Given the description of an element on the screen output the (x, y) to click on. 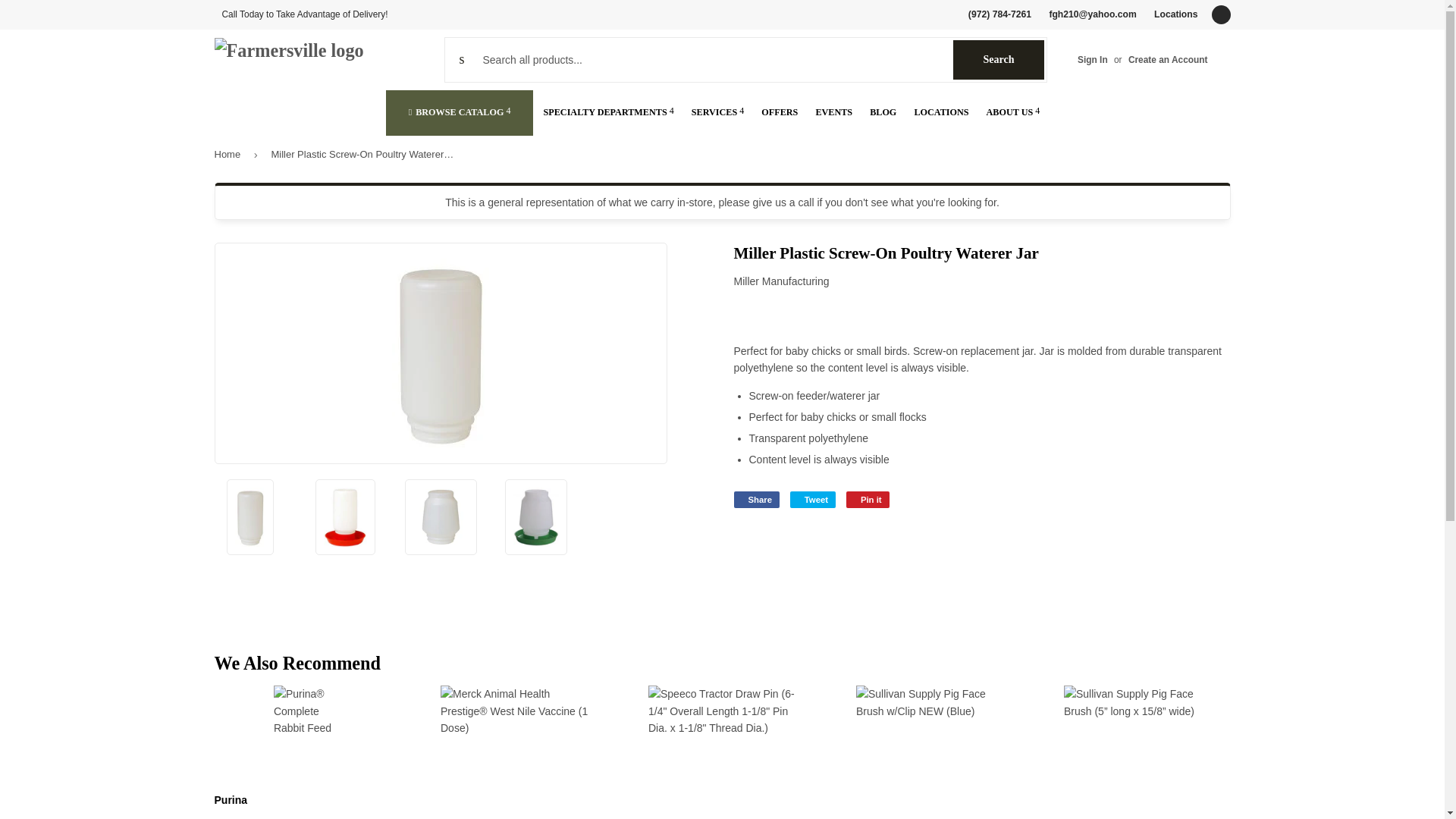
Share on Facebook (755, 499)
Farmersville Grain and Hardware on Facebook (1220, 14)
Create an Account (1168, 59)
Pin on Pinterest (867, 499)
Tweet on Twitter (812, 499)
 Locations (1174, 14)
Sign In (998, 59)
Facebook (1092, 59)
Open Product Zoom (1220, 14)
